Given the description of an element on the screen output the (x, y) to click on. 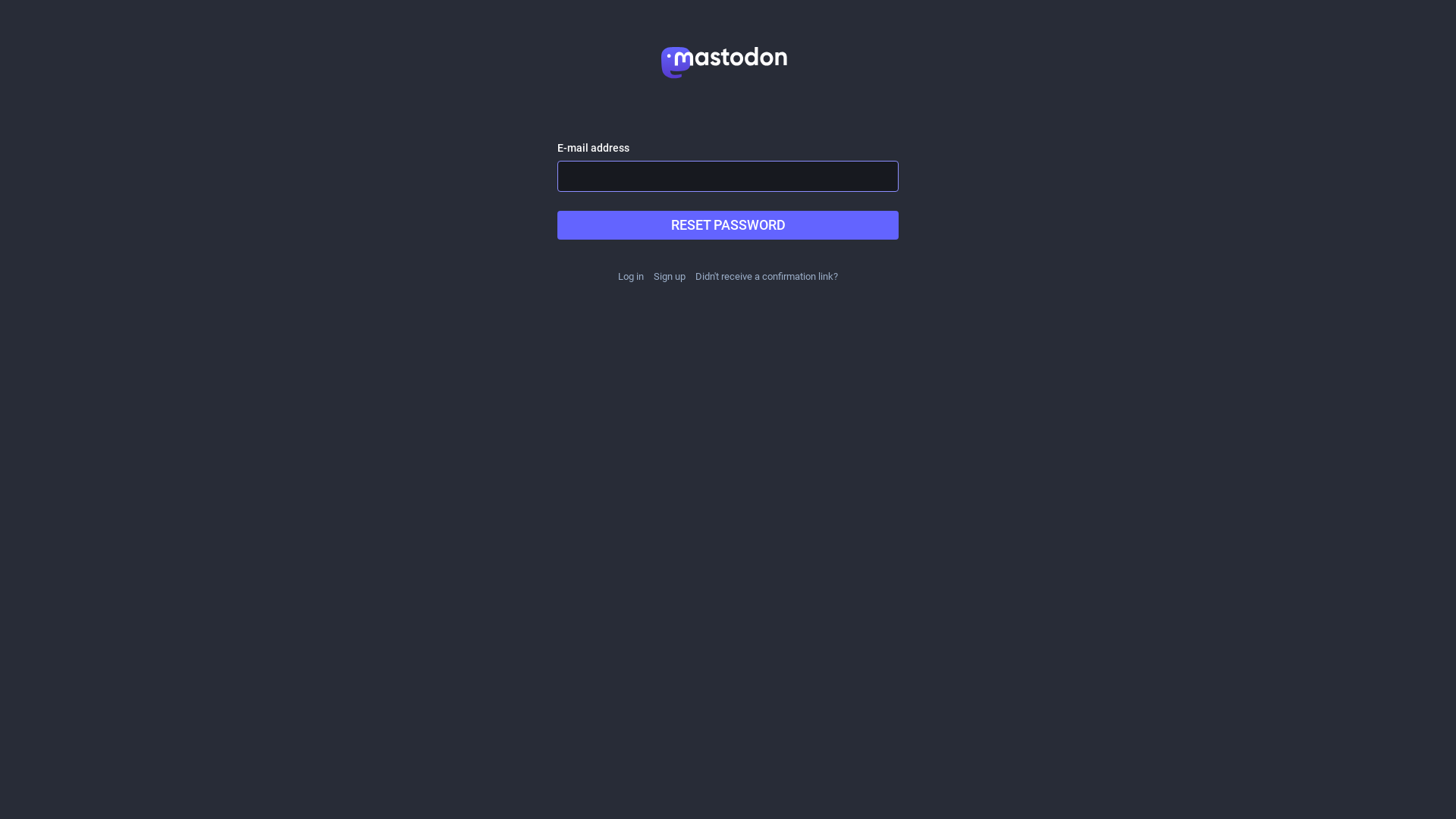
Sign up Element type: text (669, 276)
Didn't receive a confirmation link? Element type: text (766, 276)
Log in Element type: text (630, 276)
RESET PASSWORD Element type: text (727, 224)
